Given the description of an element on the screen output the (x, y) to click on. 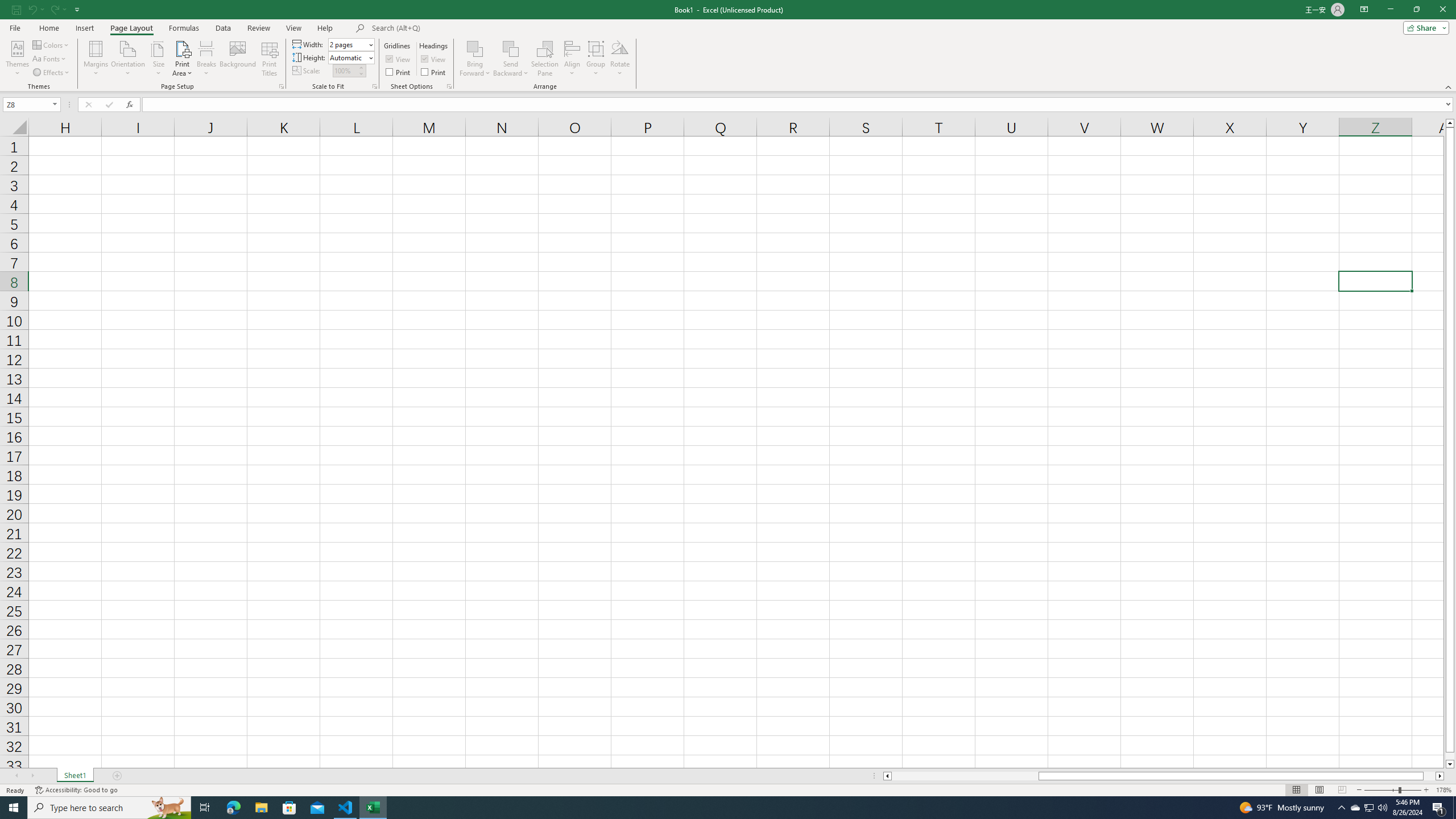
Print (434, 71)
Background... (237, 58)
Page left (964, 775)
Effects (51, 72)
Print Titles (269, 58)
Width (350, 44)
Fonts (49, 58)
